Given the description of an element on the screen output the (x, y) to click on. 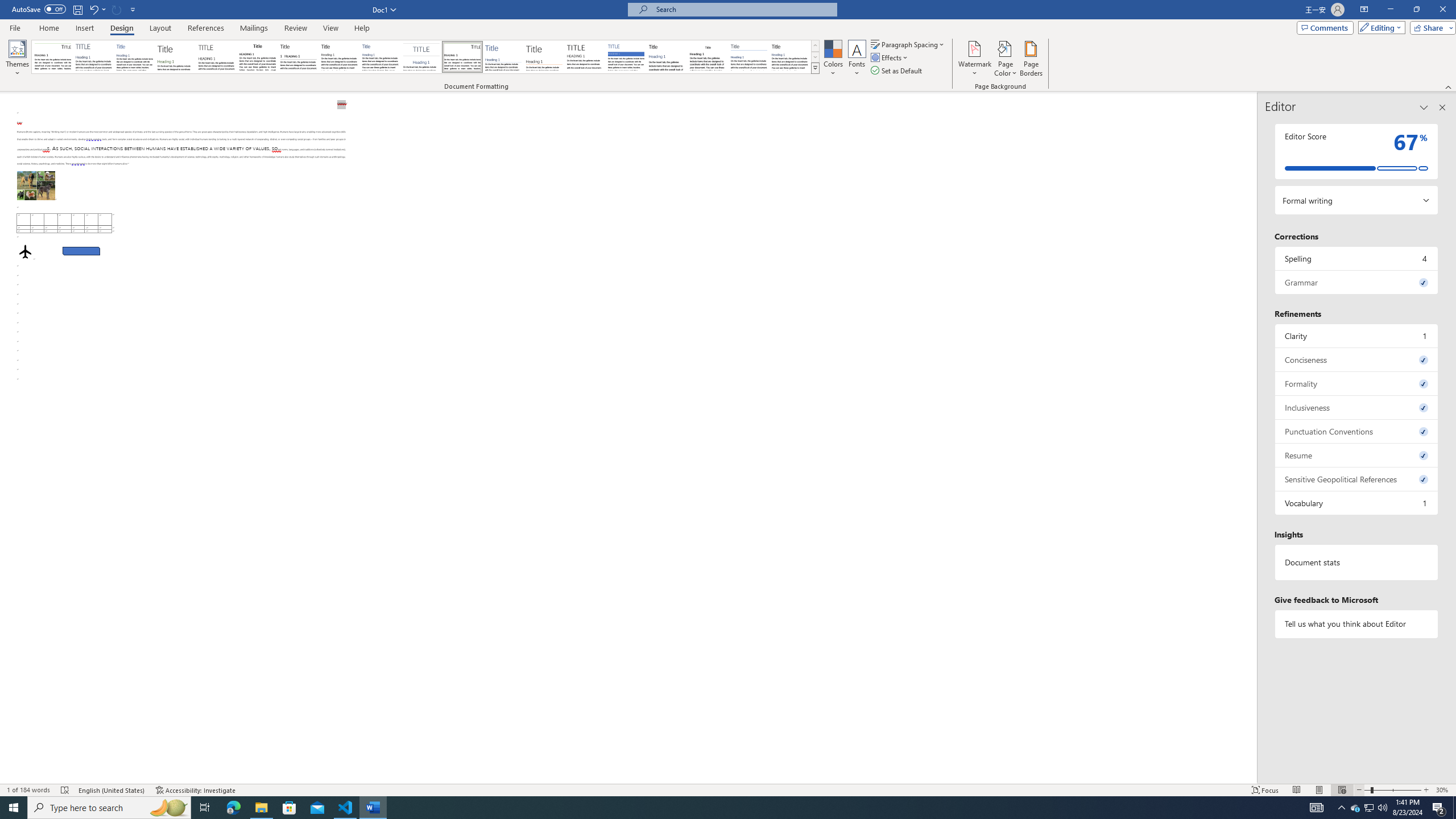
Share (1430, 27)
Accessibility Checker Accessibility: Investigate (195, 790)
Airplane with solid fill (25, 251)
Set as Default (897, 69)
Fonts (856, 58)
References (205, 28)
Document (52, 56)
Word (666, 56)
View (330, 28)
Read Mode (1296, 790)
Shaded (625, 56)
Design (122, 28)
Print Layout (1318, 790)
